Given the description of an element on the screen output the (x, y) to click on. 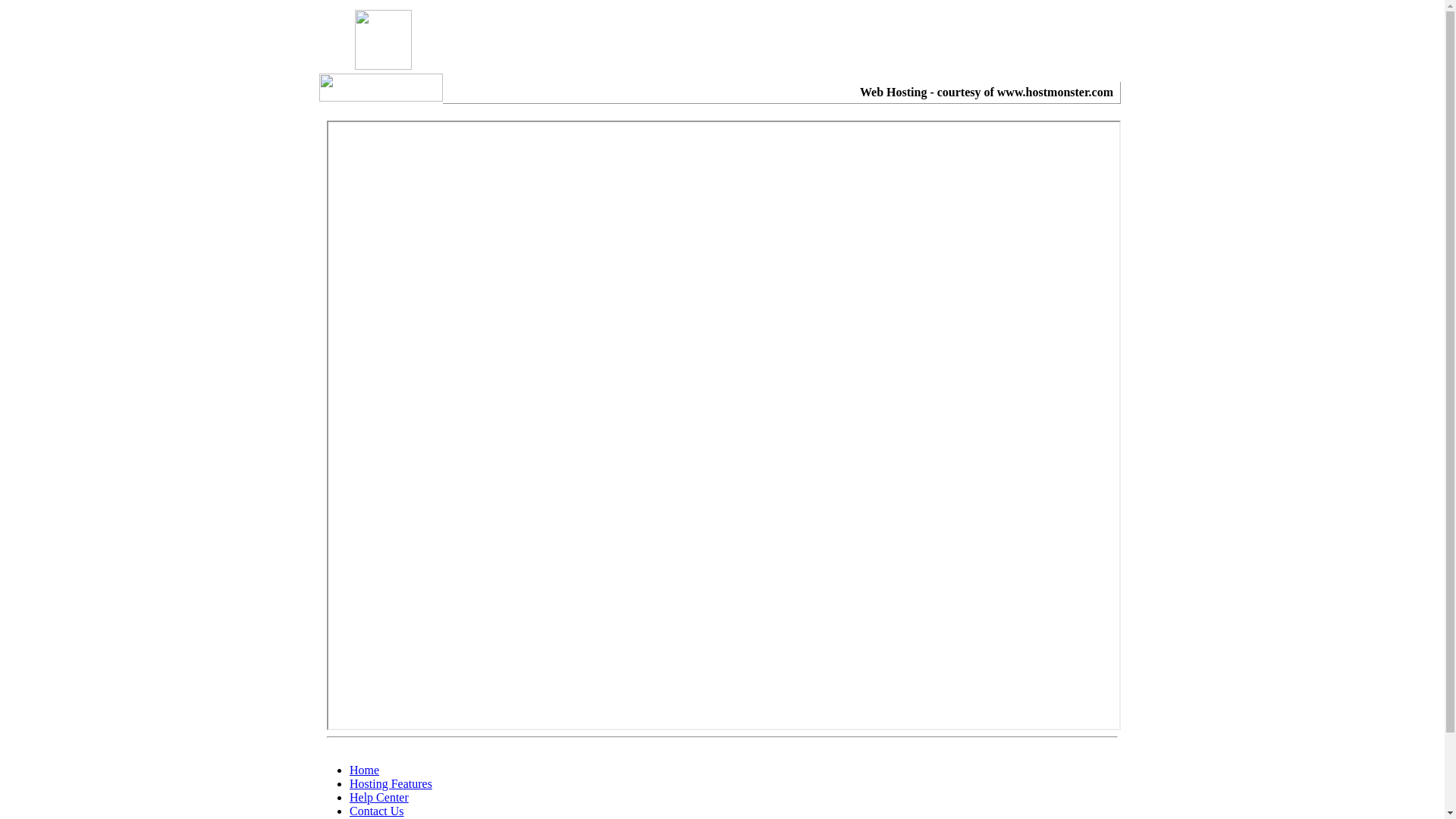
Hosting Features Element type: text (390, 783)
Help Center Element type: text (378, 796)
Web Hosting - courtesy of www.hostmonster.com Element type: text (986, 91)
Home Element type: text (364, 769)
Contact Us Element type: text (376, 810)
